Given the description of an element on the screen output the (x, y) to click on. 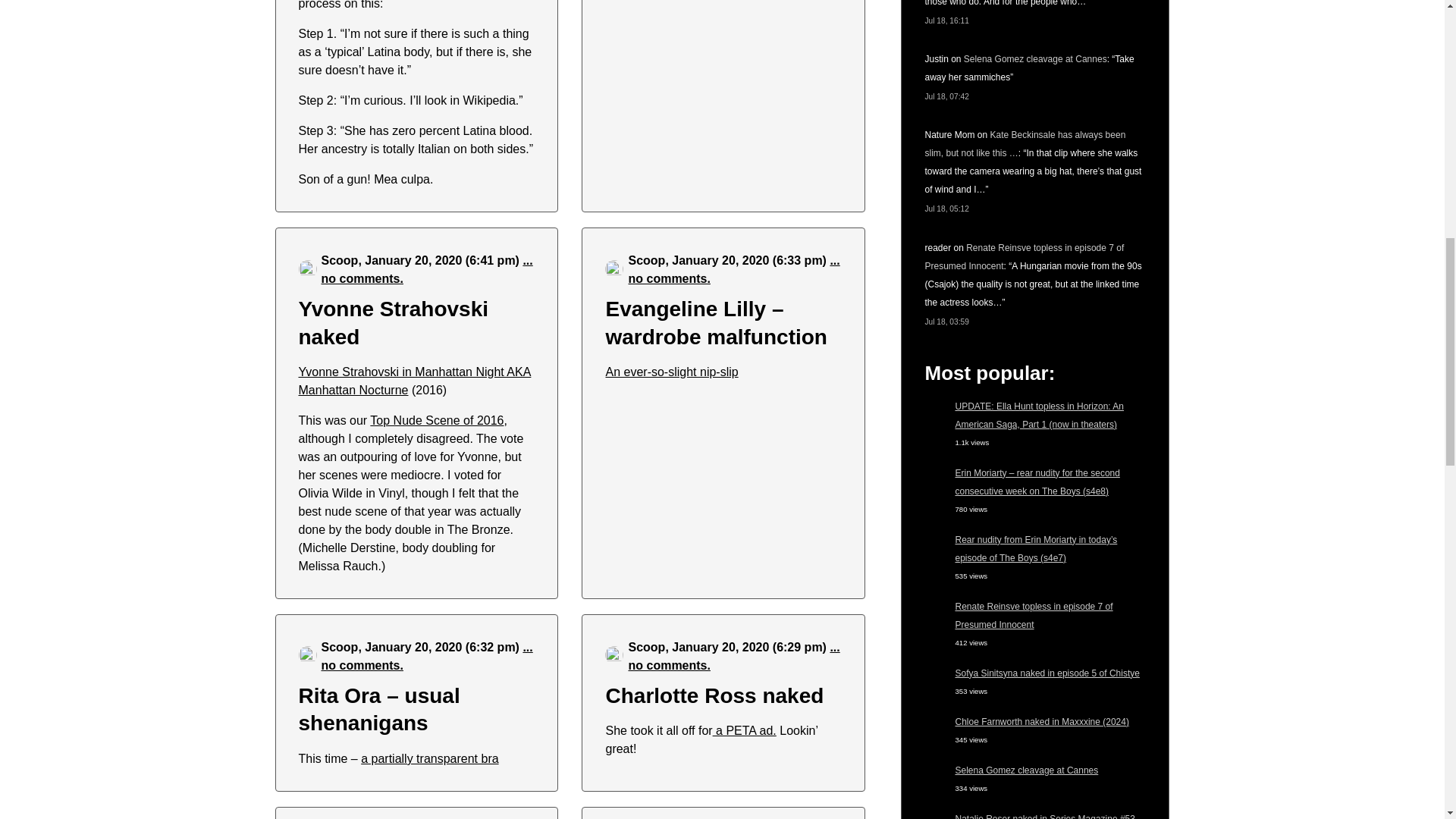
a partially transparent bra (429, 758)
... no comments. (426, 655)
Yvonne Strahovski naked (393, 322)
Yvonne Strahovski in Manhattan Night AKA Manhattan Nocturne (414, 380)
Top Nude Scene of 2016 (436, 420)
... no comments. (426, 269)
... no comments. (733, 269)
Charlotte Ross naked (714, 695)
An ever-so-slight nip-slip (671, 371)
